Given the description of an element on the screen output the (x, y) to click on. 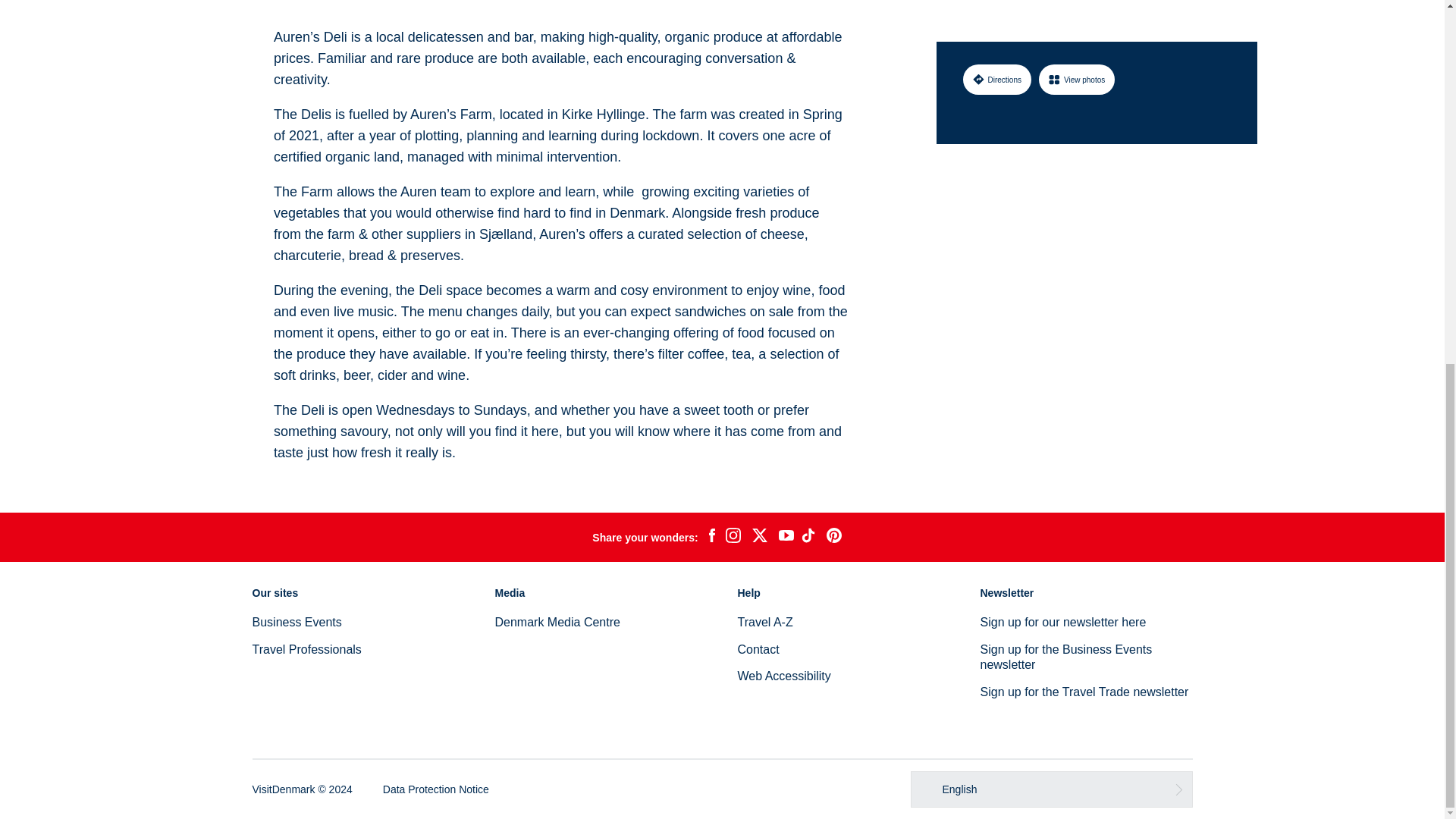
Sign up for our newsletter here (1062, 621)
Travel A-Z (764, 621)
Denmark Media Centre (557, 621)
youtube (786, 537)
Sign up for the Business Events newsletter (1065, 656)
Denmark Media Centre (557, 621)
instagram (732, 537)
pinterest (834, 537)
Sign up for our newsletter here (1062, 621)
Data Protection Notice (435, 789)
Data Protection Notice (435, 789)
Sign up for the Travel Trade newsletter (1083, 691)
Sign up for the Travel Trade newsletter (1083, 691)
facebook (711, 537)
Contact (757, 649)
